Given the description of an element on the screen output the (x, y) to click on. 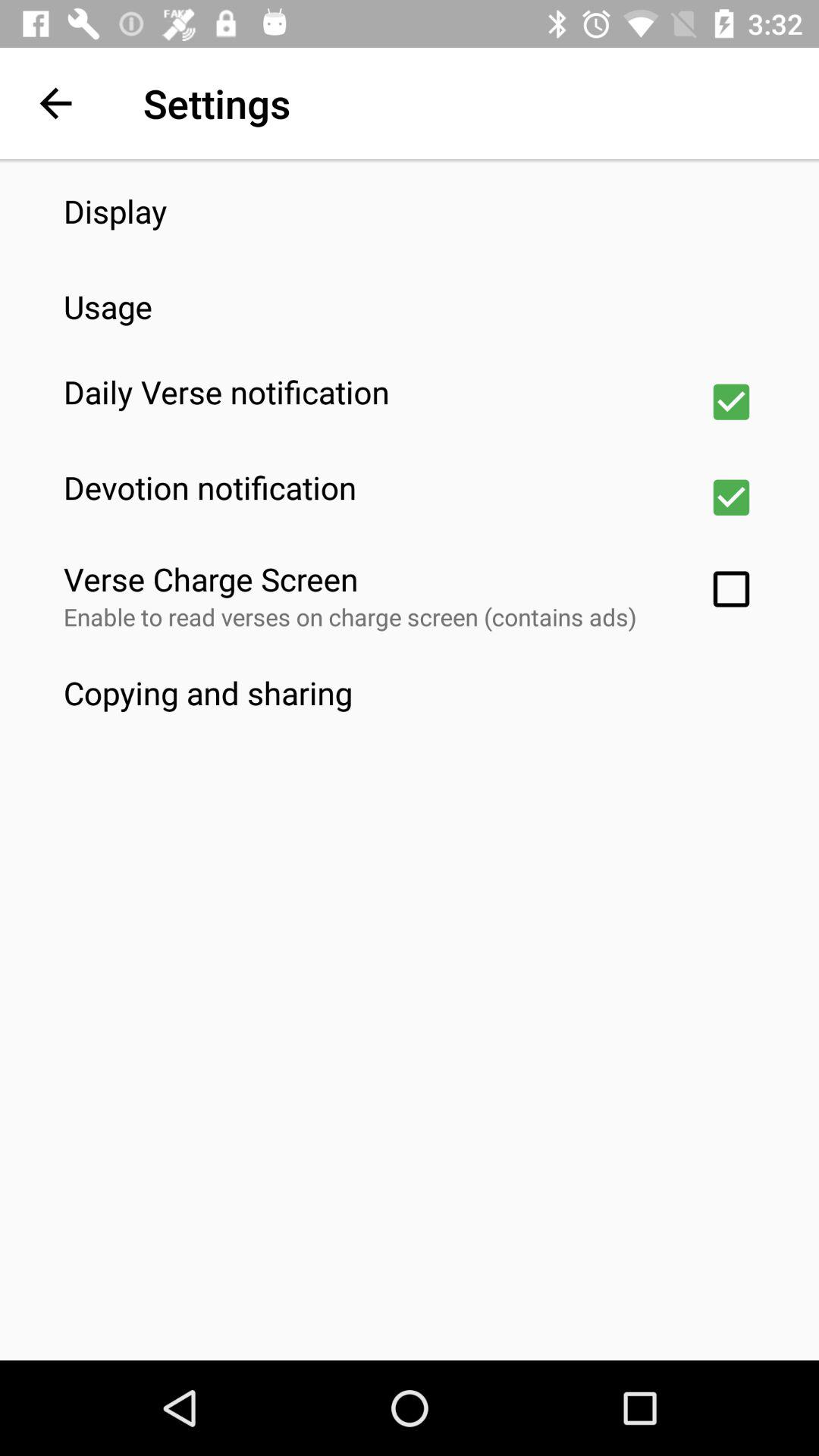
open the app next to settings app (55, 103)
